Given the description of an element on the screen output the (x, y) to click on. 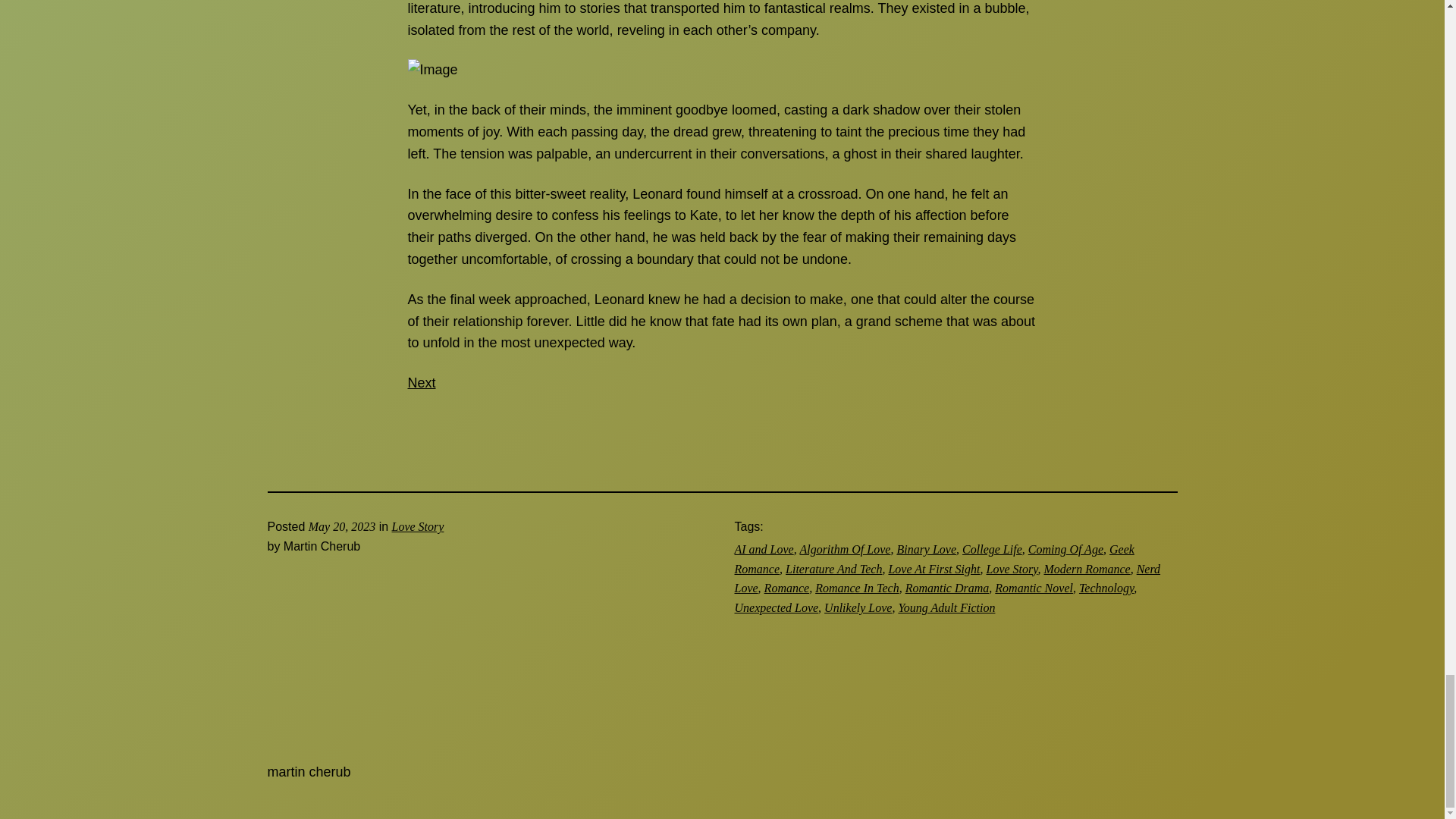
Romantic Novel (1033, 587)
Love Story (1010, 568)
Modern Romance (1086, 568)
Unexpected Love (775, 607)
Technology (1106, 587)
AI and Love (763, 549)
Romance In Tech (857, 587)
Romantic Drama (947, 587)
martin cherub (308, 771)
Romance (786, 587)
